Given the description of an element on the screen output the (x, y) to click on. 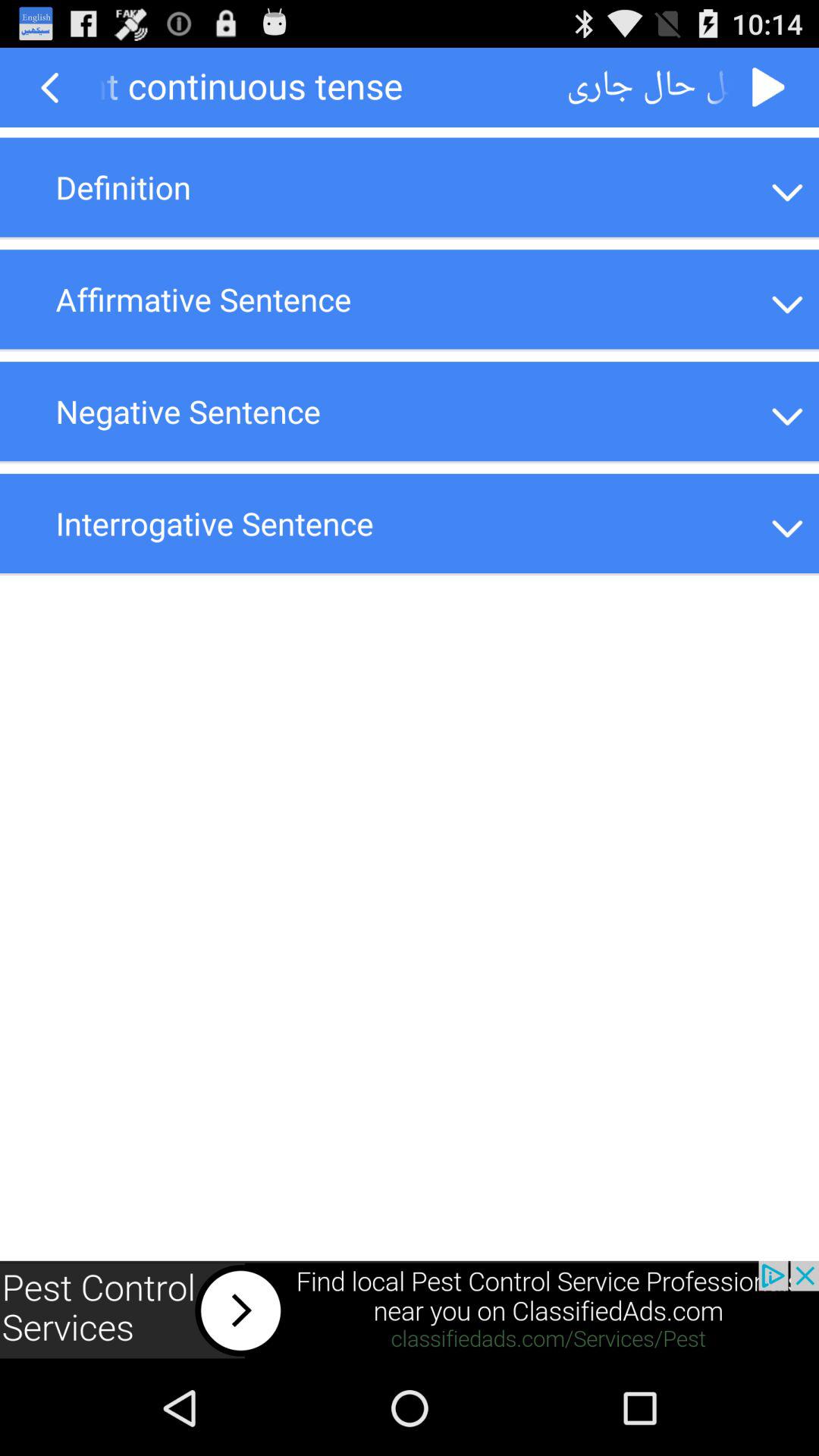
advance forward (768, 87)
